Given the description of an element on the screen output the (x, y) to click on. 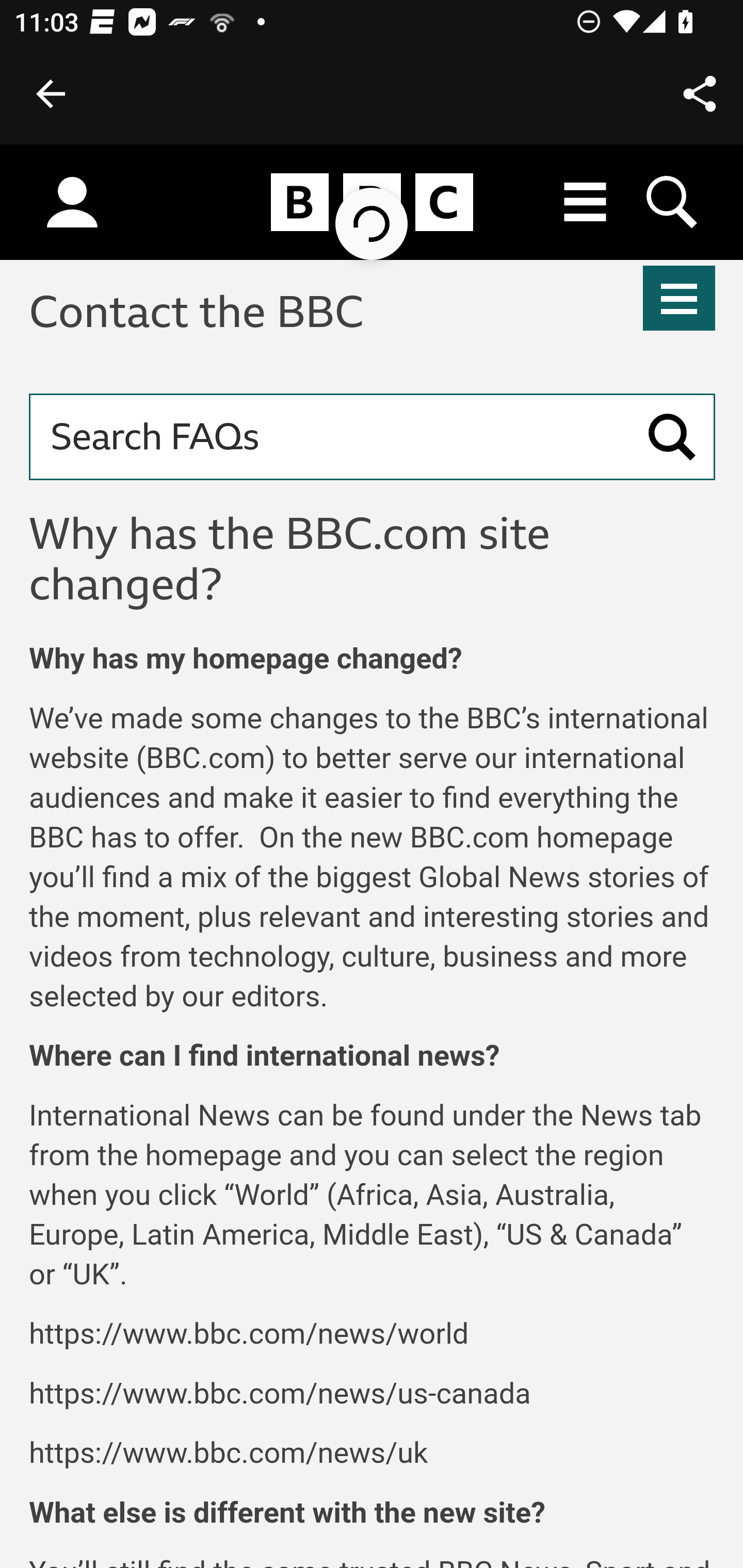
Back (50, 93)
Share (699, 93)
All BBC destinations menu (585, 202)
Search BBC (672, 202)
Sign in (71, 203)
Homepage (371, 203)
Navigation (679, 297)
Search (671, 436)
